Given the description of an element on the screen output the (x, y) to click on. 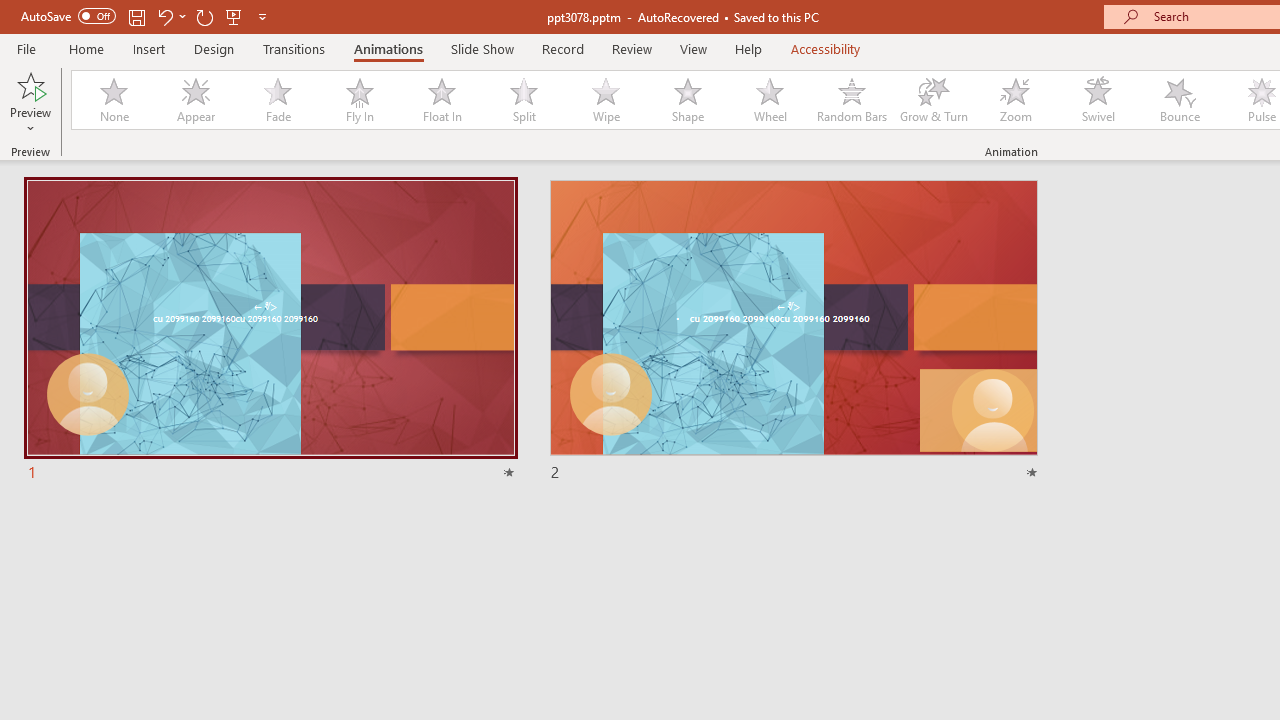
Float In (441, 100)
